Given the description of an element on the screen output the (x, y) to click on. 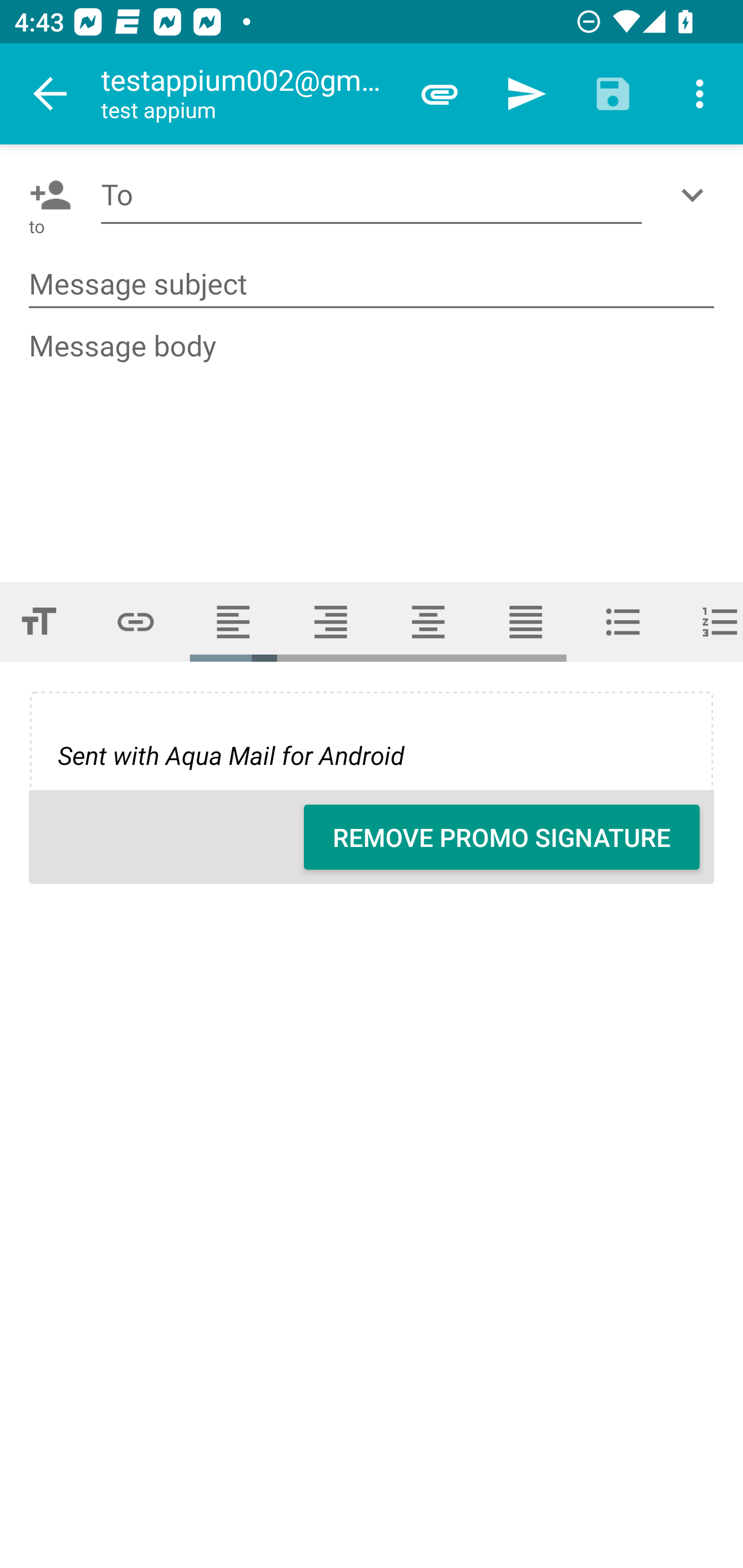
Navigate up (50, 93)
testappium002@gmail.com test appium (248, 93)
Attach (439, 93)
Send (525, 93)
Save (612, 93)
More options (699, 93)
Pick contact: To (46, 195)
Show/Add CC/BCC (696, 195)
To (371, 195)
Message subject (371, 284)
Message body (372, 438)
Font size (43, 621)
Set link (135, 621)
Align left (233, 621)
Align right (330, 621)
Align center (428, 621)
Full justify (526, 621)
List (bulleted) (623, 621)
List (numbered) (707, 621)
REMOVE PROMO SIGNATURE (501, 837)
